Given the description of an element on the screen output the (x, y) to click on. 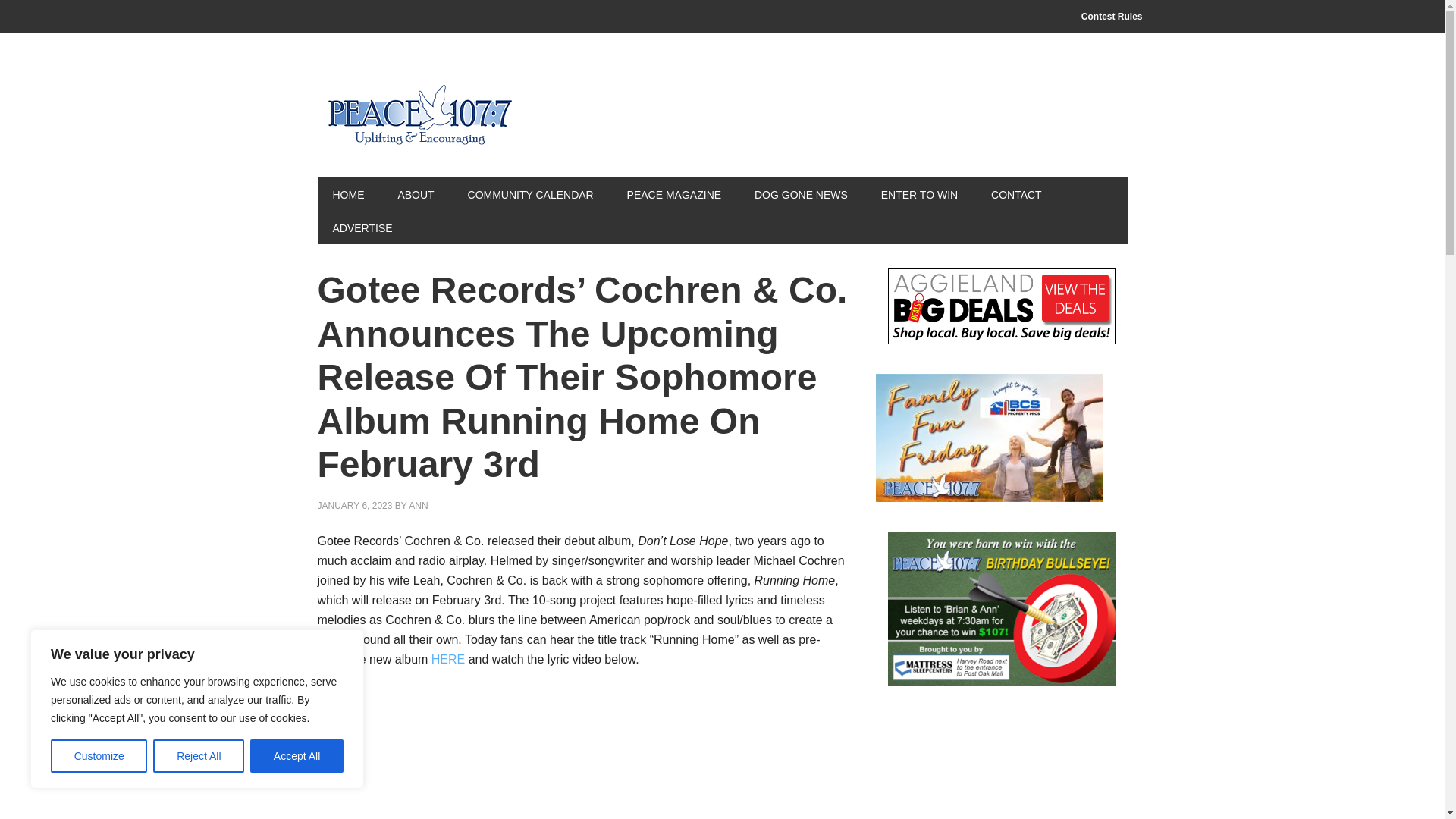
Customize (98, 756)
Contest Rules (1111, 16)
Signup Widget Embed (1000, 766)
CONTACT (1016, 193)
Reject All (198, 756)
ADVERTISE (362, 227)
ABOUT (414, 193)
COMMUNITY CALENDAR (530, 193)
PEACE MAGAZINE (673, 193)
ANN (418, 505)
HERE (447, 658)
ENTER TO WIN (919, 193)
HOME (347, 193)
PEACE 107:7 (419, 115)
DOG GONE NEWS (801, 193)
